Given the description of an element on the screen output the (x, y) to click on. 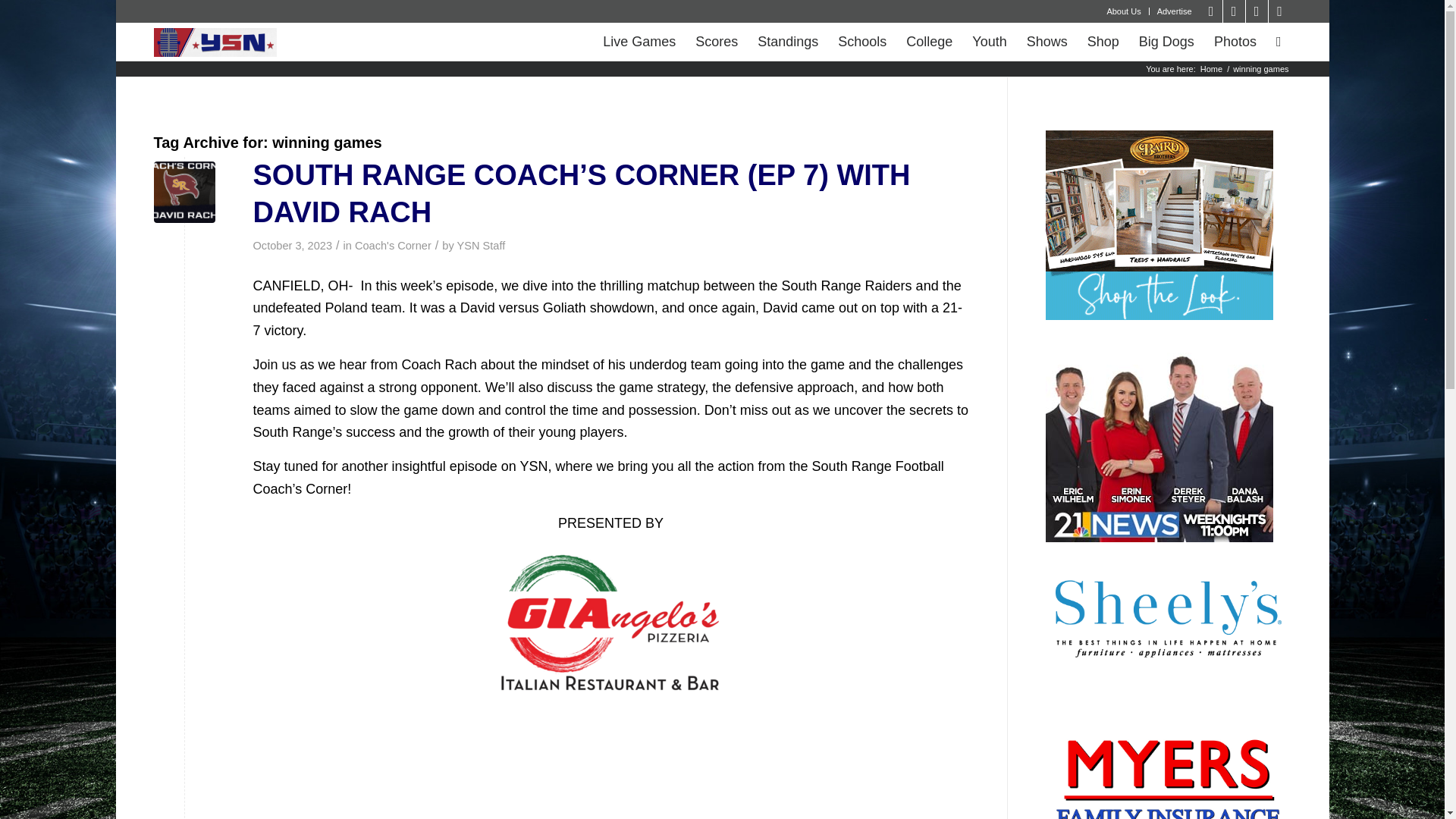
Live Games (638, 41)
Scores (716, 41)
SOUTH RANGE FOOTBALL COACH S CORNER EP 7 WITH DAVID RACH (611, 764)
About Us (1123, 11)
Advertise (1174, 11)
Posts by YSN Staff (481, 245)
Schools (862, 41)
Standings (788, 41)
